Given the description of an element on the screen output the (x, y) to click on. 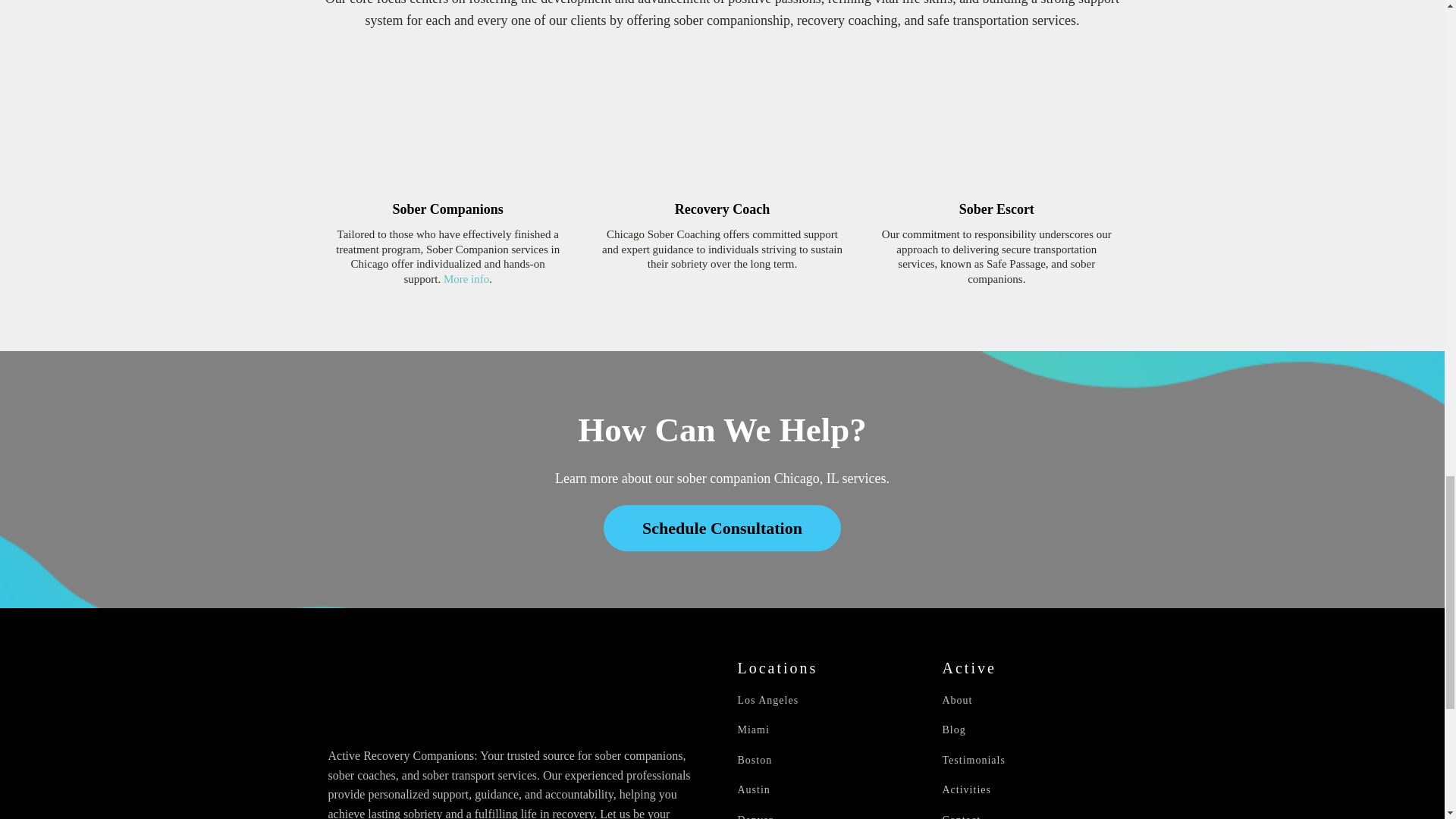
Recovery Coach (722, 209)
Schedule Consultation (722, 528)
Miami (752, 729)
Sober Companions (448, 209)
Los Angeles (766, 699)
Austin (753, 789)
Denver (754, 816)
Sober Escort (996, 209)
Boston (753, 759)
More info (466, 278)
